Given the description of an element on the screen output the (x, y) to click on. 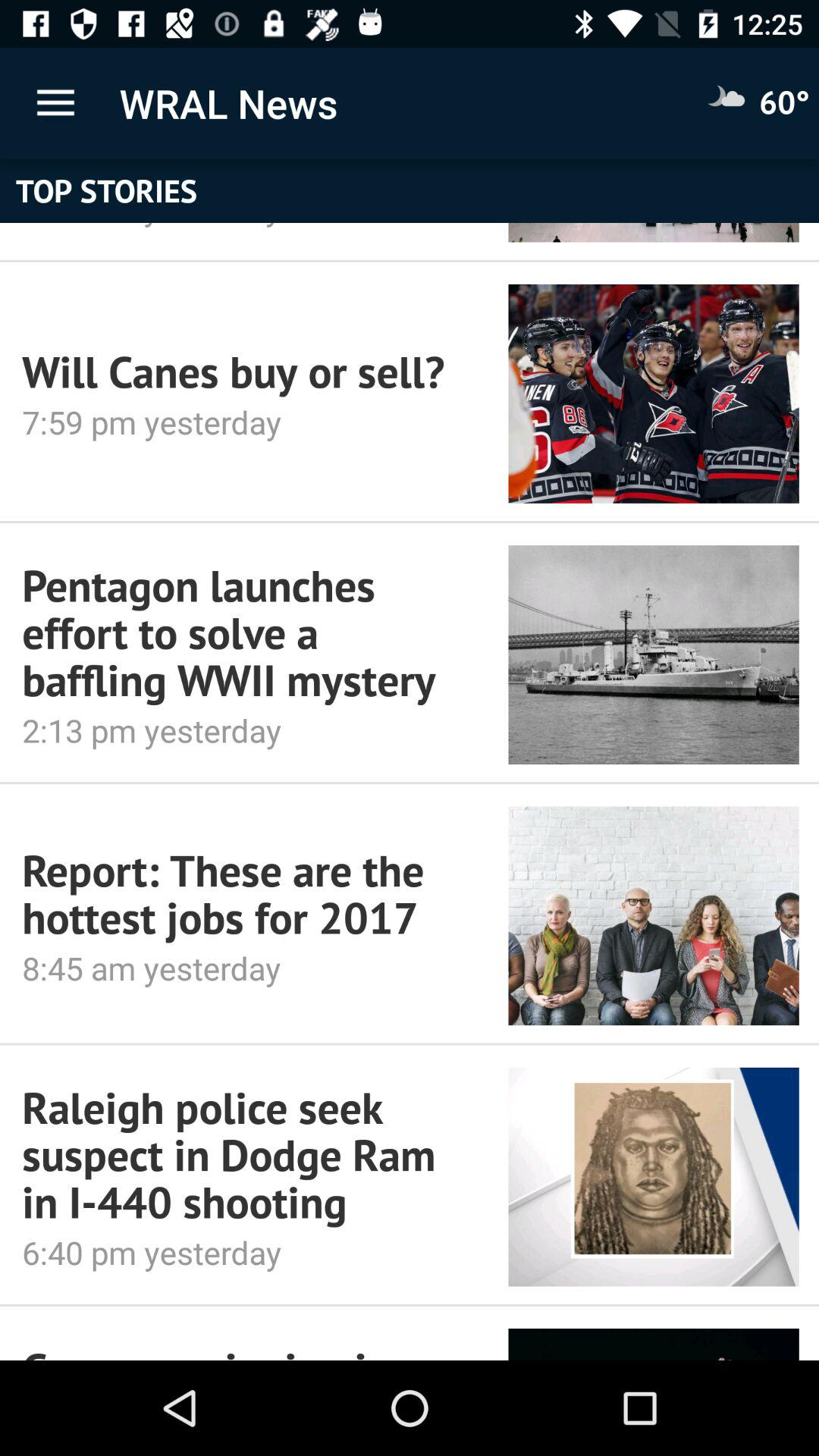
scroll to the report these are icon (244, 894)
